Given the description of an element on the screen output the (x, y) to click on. 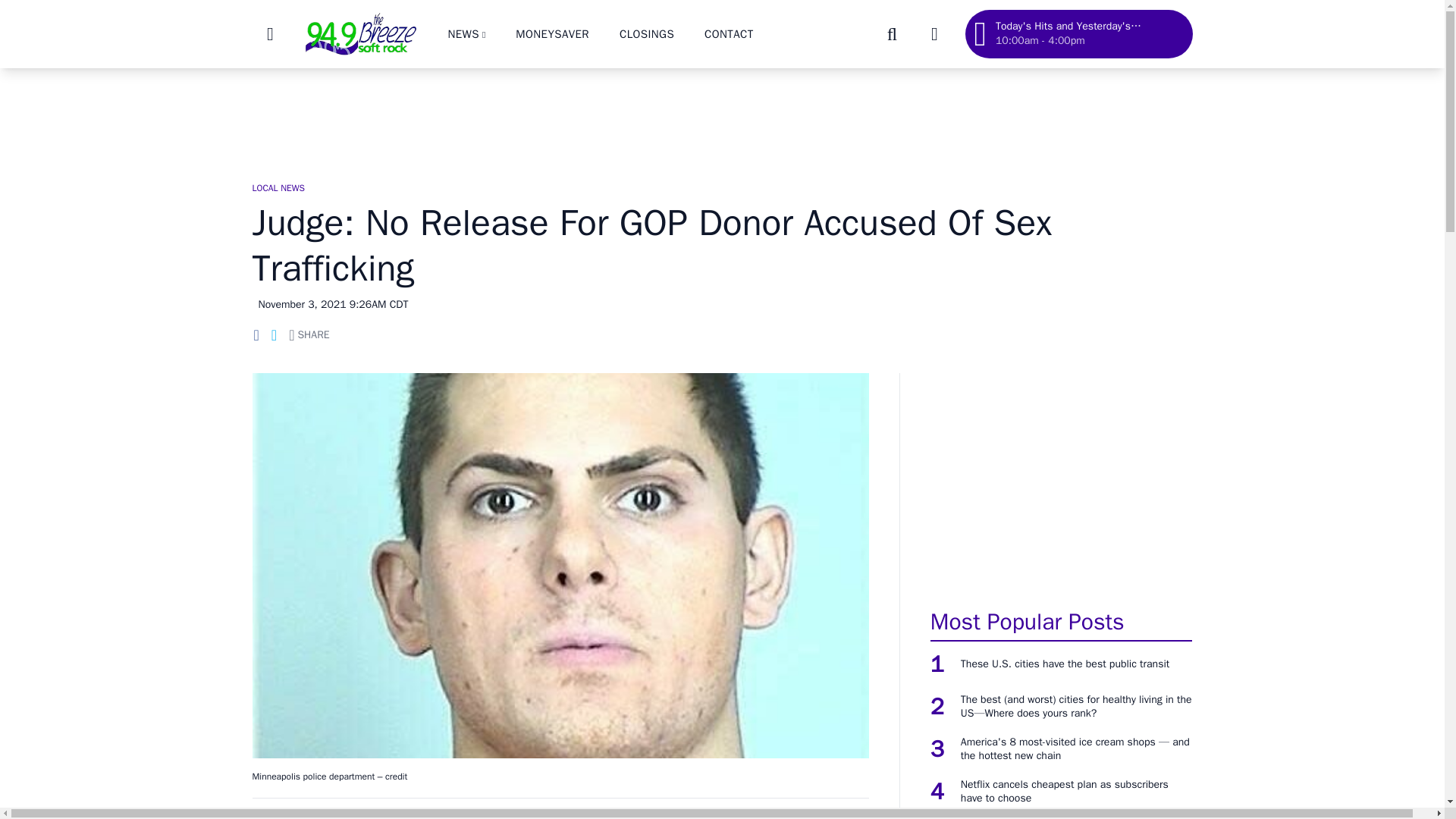
3rd party ad content (721, 117)
MONEYSAVER (552, 33)
3rd party ad content (1060, 483)
The Breeze 94.9 (359, 33)
